Given the description of an element on the screen output the (x, y) to click on. 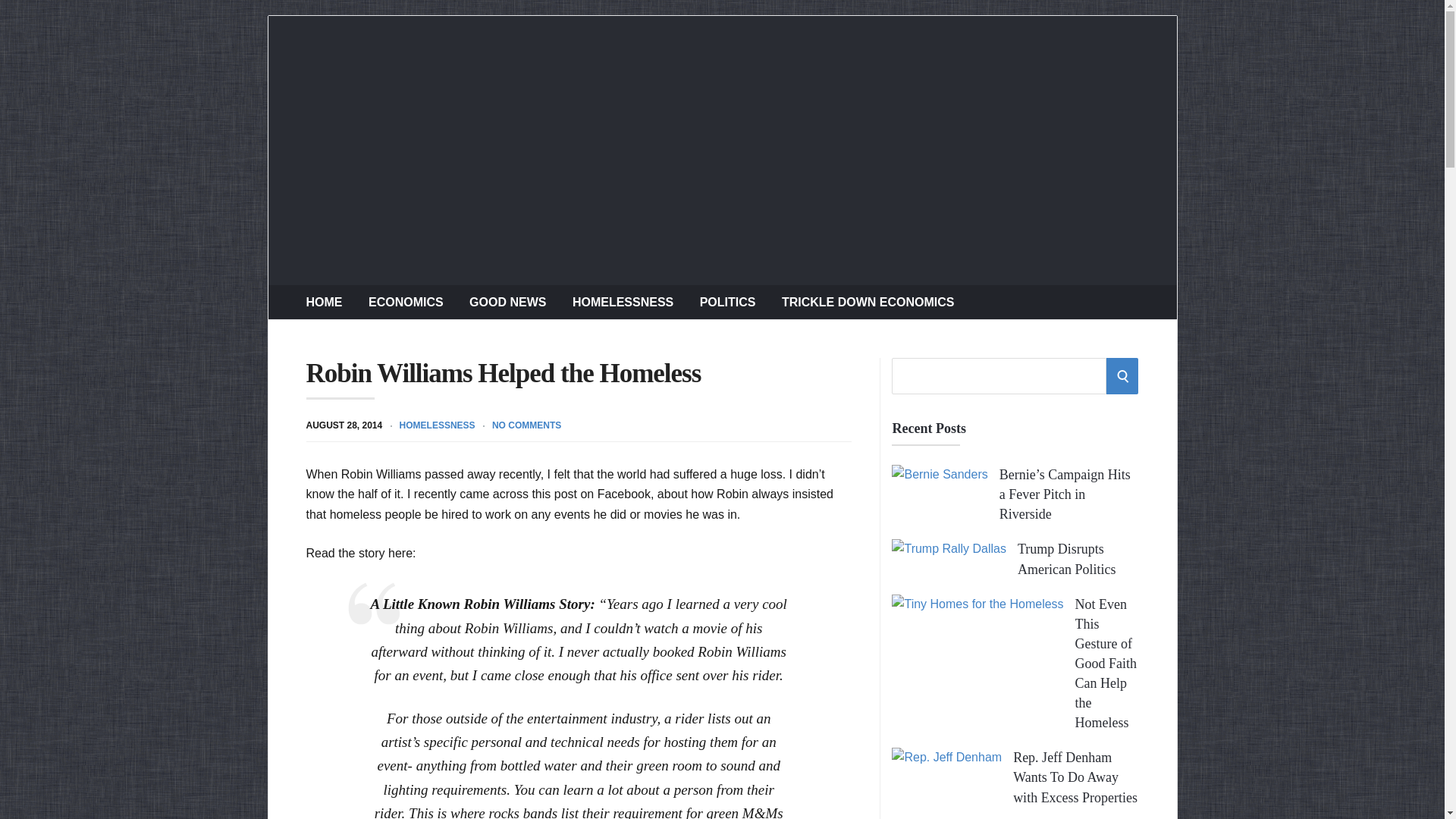
TRICKLE DOWN ECONOMICS (868, 302)
GOOD NEWS (507, 302)
HOMELESSNESS (622, 302)
HOMELESSNESS (437, 425)
ECONOMICS (406, 302)
POLITICS (727, 302)
Trump Disrupts American Politics (1066, 558)
NO COMMENTS (526, 425)
Rep. Jeff Denham Wants To Do Away with Excess Properties (1075, 777)
HOME (323, 302)
